Given the description of an element on the screen output the (x, y) to click on. 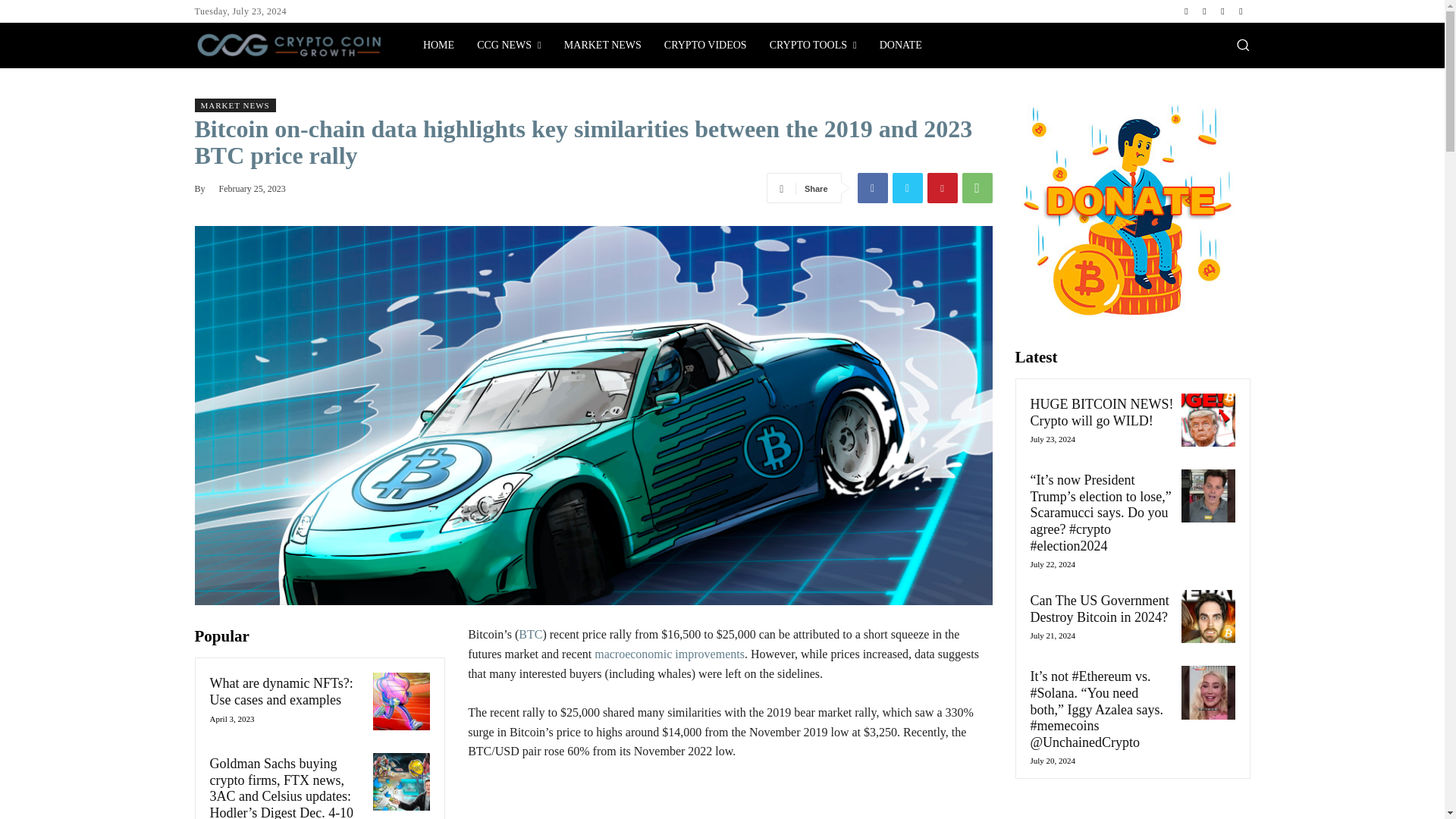
Twitter (1221, 11)
HOME (438, 44)
Donate crypto to help the project (900, 44)
MARKET NEWS (602, 44)
CCG NEWS (509, 44)
CRYPTO VIDEOS (705, 44)
DONATE (900, 44)
Instagram (1203, 11)
Facebook (1185, 11)
Crypto Coin Growth News and Updates (438, 44)
Youtube (1240, 11)
CRYPTO TOOLS (812, 44)
